Given the description of an element on the screen output the (x, y) to click on. 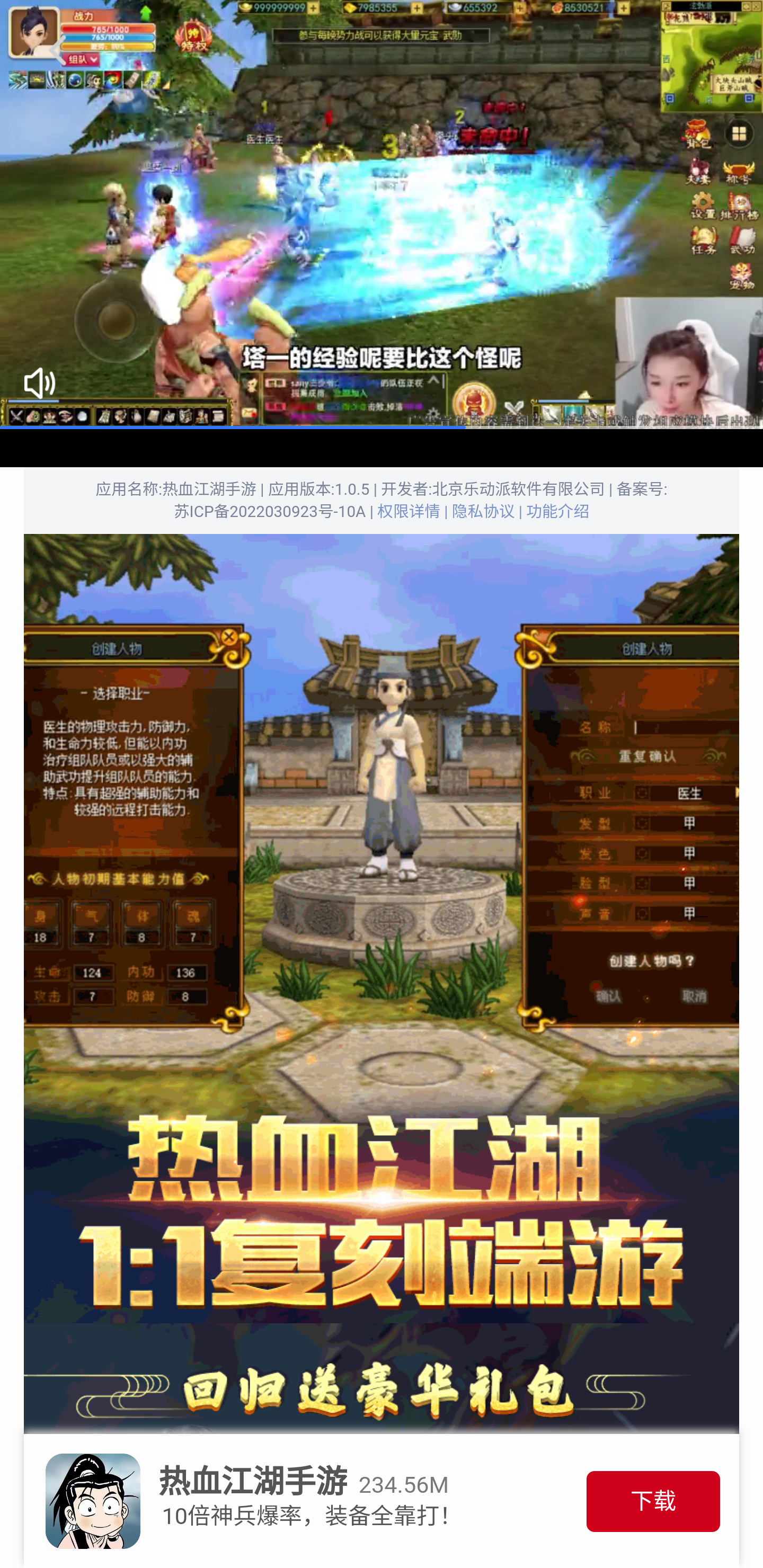
广告 23597.0 (381, 214)
下载 (653, 1500)
